Given the description of an element on the screen output the (x, y) to click on. 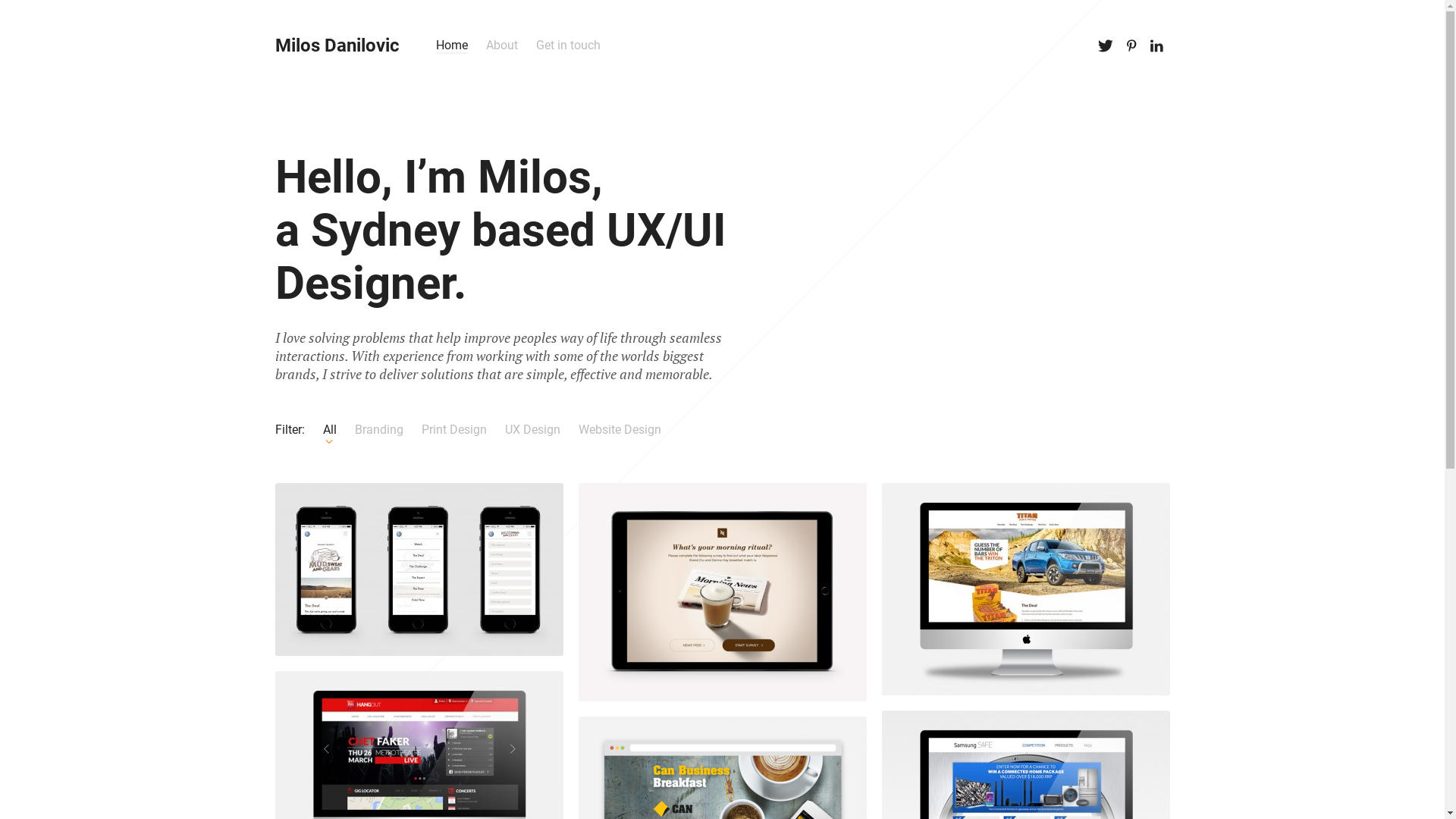
UX Design Element type: text (532, 429)
Milos Danilovic Element type: text (336, 45)
Print Design Element type: text (453, 429)
About Element type: text (501, 44)
Website Design Element type: text (618, 429)
Branding Element type: text (378, 429)
All Element type: text (329, 429)
Get in touch Element type: text (567, 44)
Home Element type: text (451, 45)
